Given the description of an element on the screen output the (x, y) to click on. 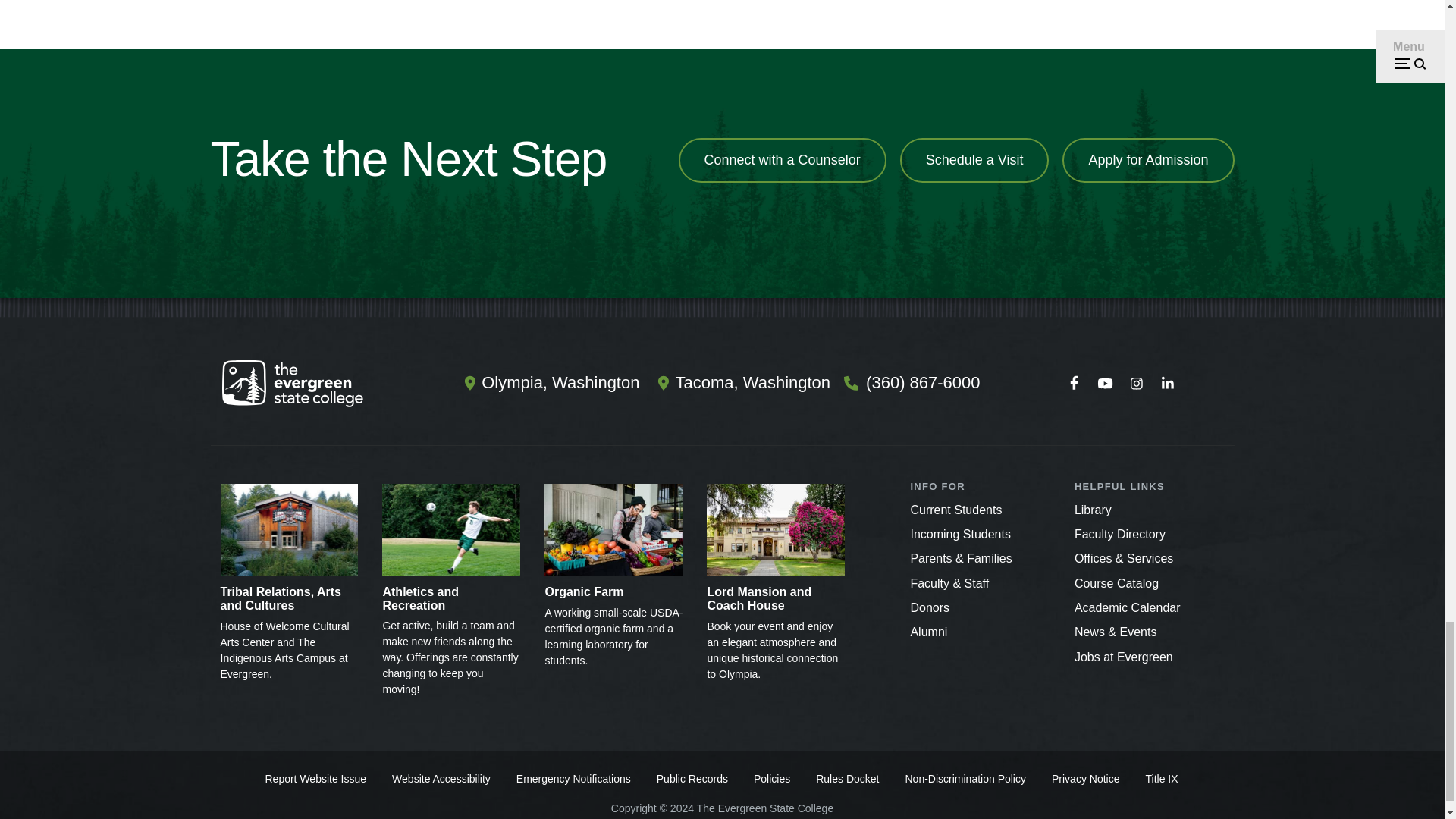
Make a Gift (929, 607)
Follow us on Instagram (1136, 383)
Connect with a Counselor (782, 160)
Watch us on Youtube (1105, 383)
Connect with us on LinkedIn (1167, 383)
Follow us on Facebook (1074, 383)
Schedule a Visit (974, 160)
Apply for Admission (1147, 160)
